Given the description of an element on the screen output the (x, y) to click on. 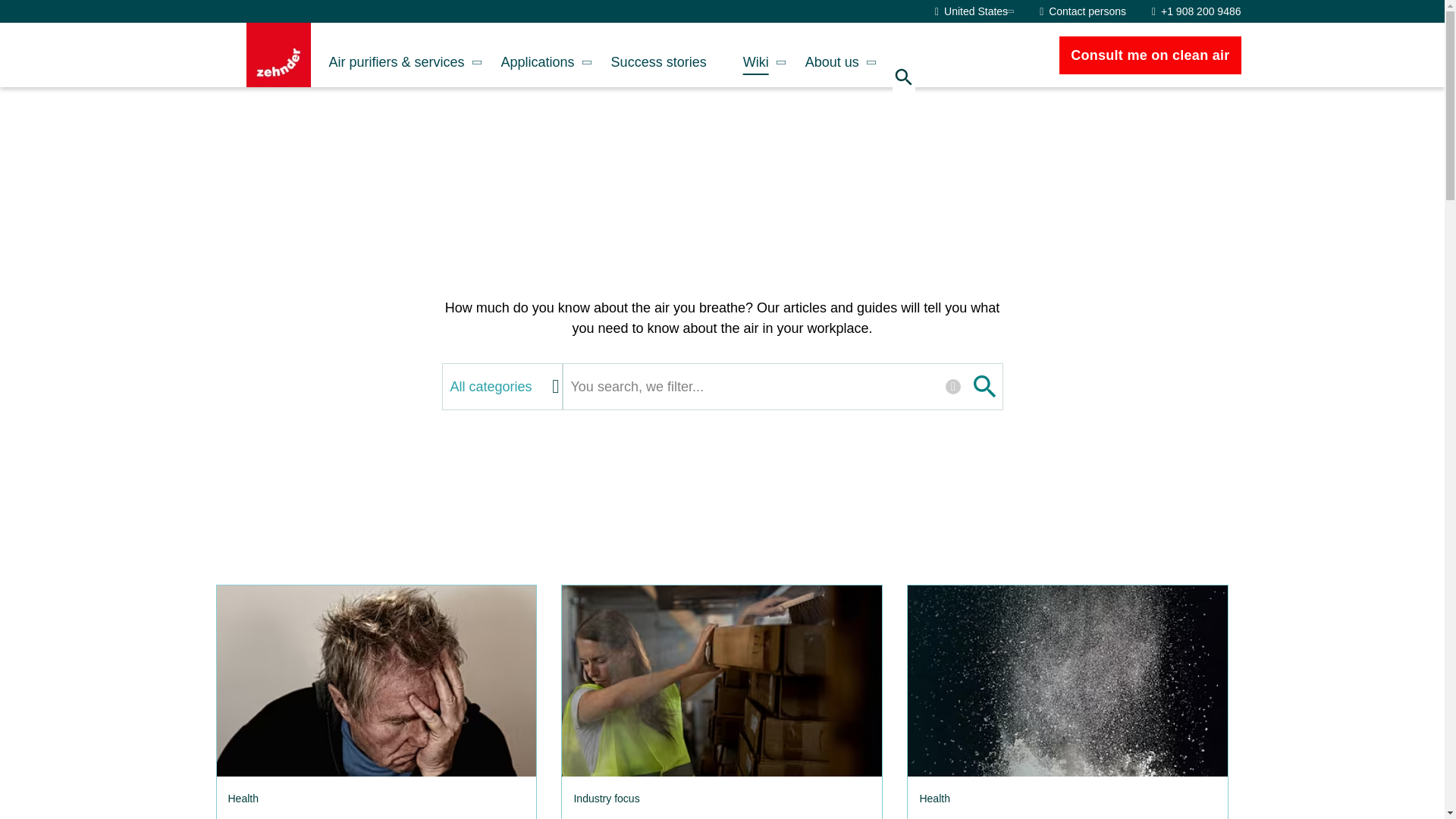
Success stories (658, 54)
About us (832, 54)
Wiki (756, 54)
Applications (537, 54)
The harmful mental health effects of air pollution (375, 680)
Contact persons (1082, 10)
